Given the description of an element on the screen output the (x, y) to click on. 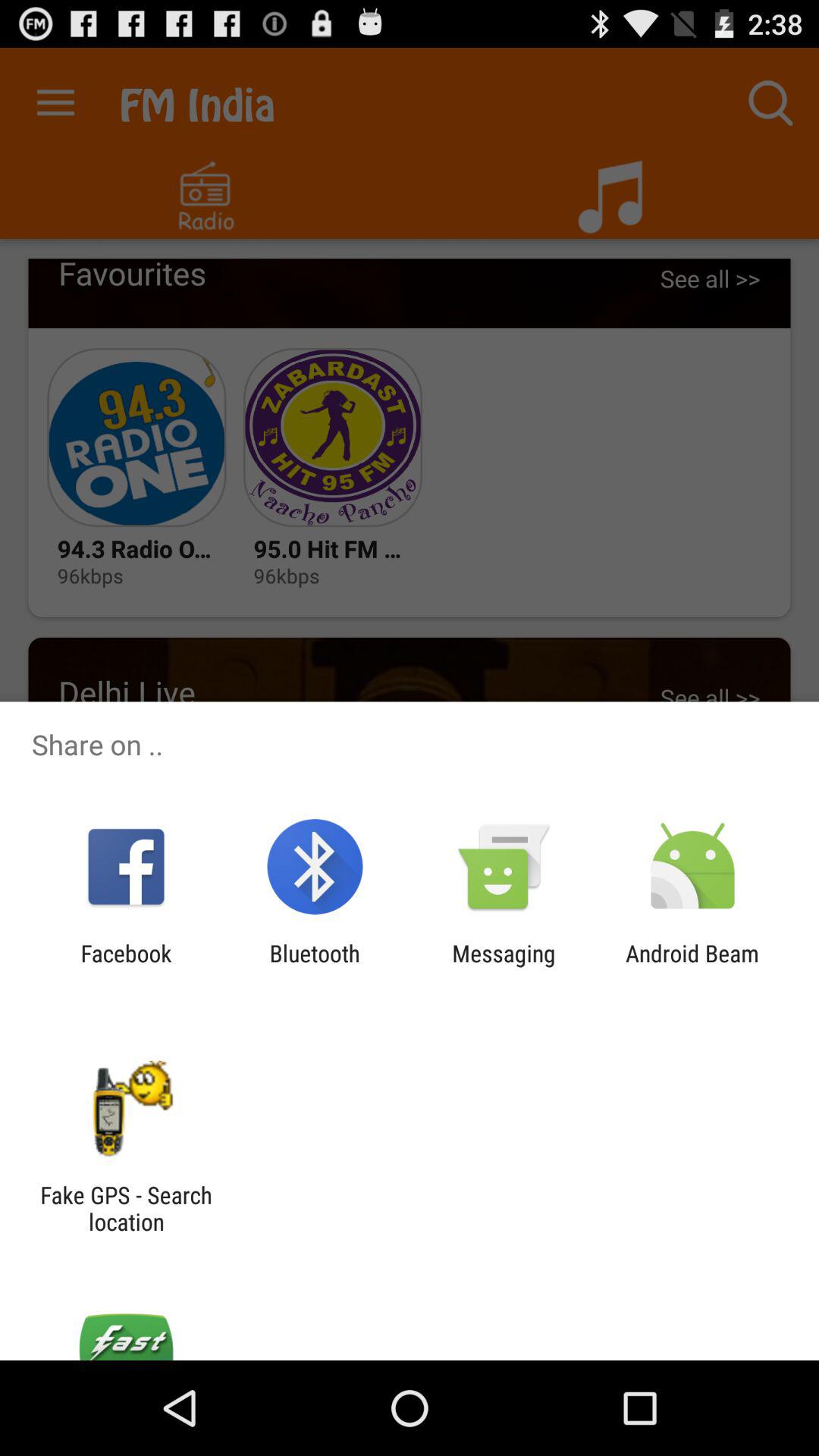
turn off the messaging (503, 966)
